Given the description of an element on the screen output the (x, y) to click on. 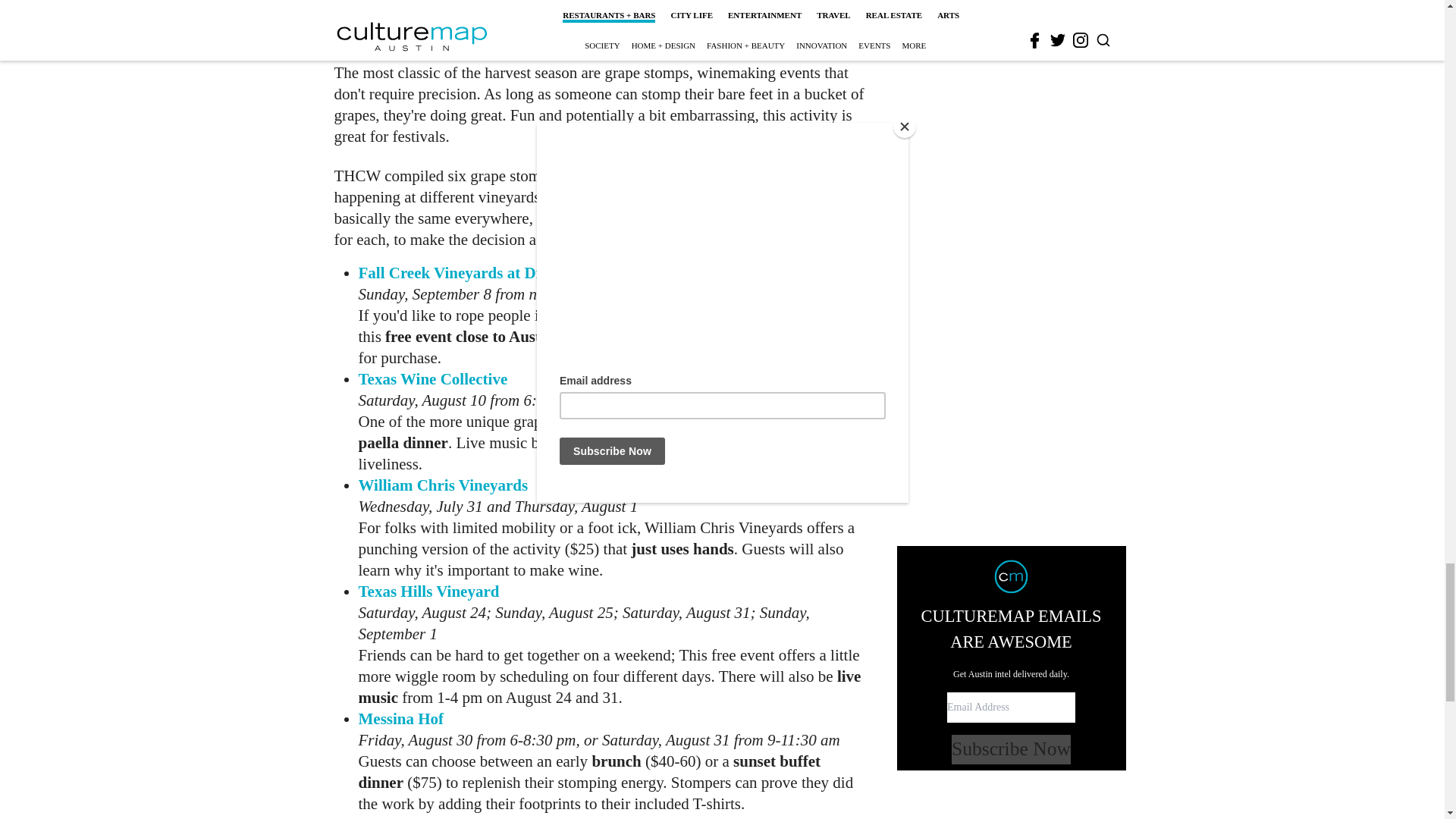
Subscribe Now (1011, 215)
